Given the description of an element on the screen output the (x, y) to click on. 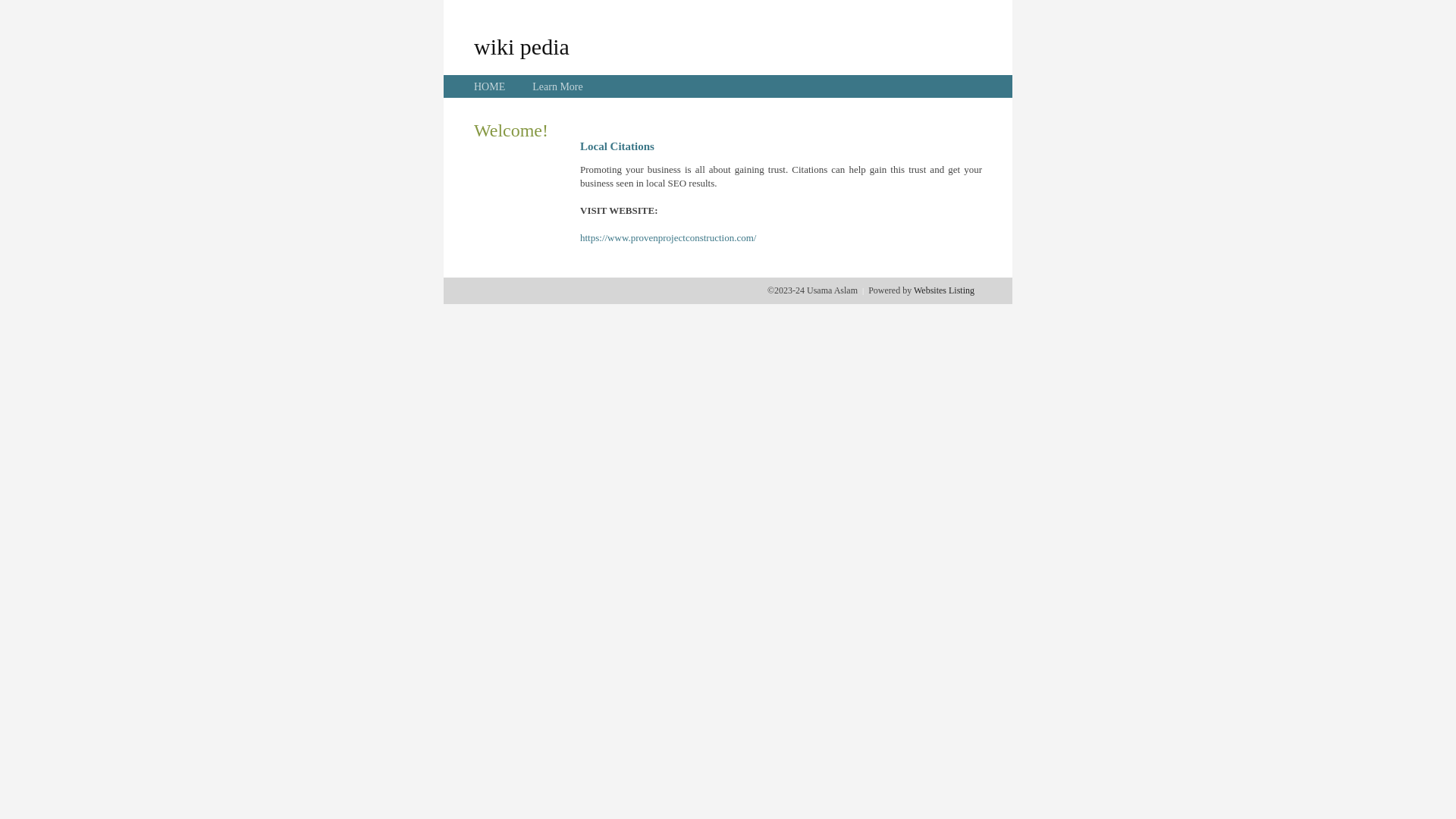
Websites Listing Element type: text (943, 290)
Learn More Element type: text (557, 86)
https://www.provenprojectconstruction.com/ Element type: text (668, 237)
wiki pedia Element type: text (521, 46)
HOME Element type: text (489, 86)
